Given the description of an element on the screen output the (x, y) to click on. 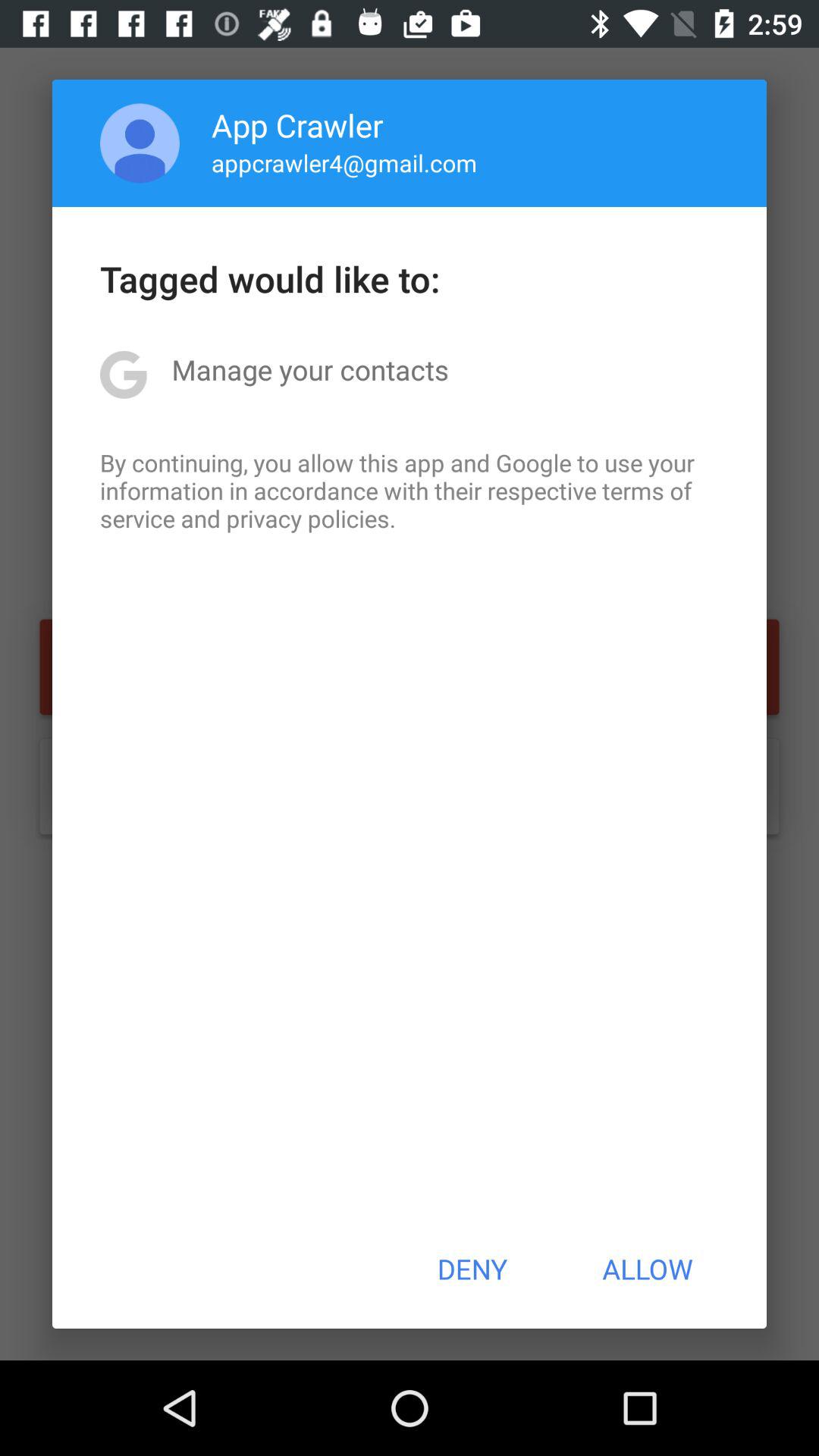
turn off deny button (471, 1268)
